Given the description of an element on the screen output the (x, y) to click on. 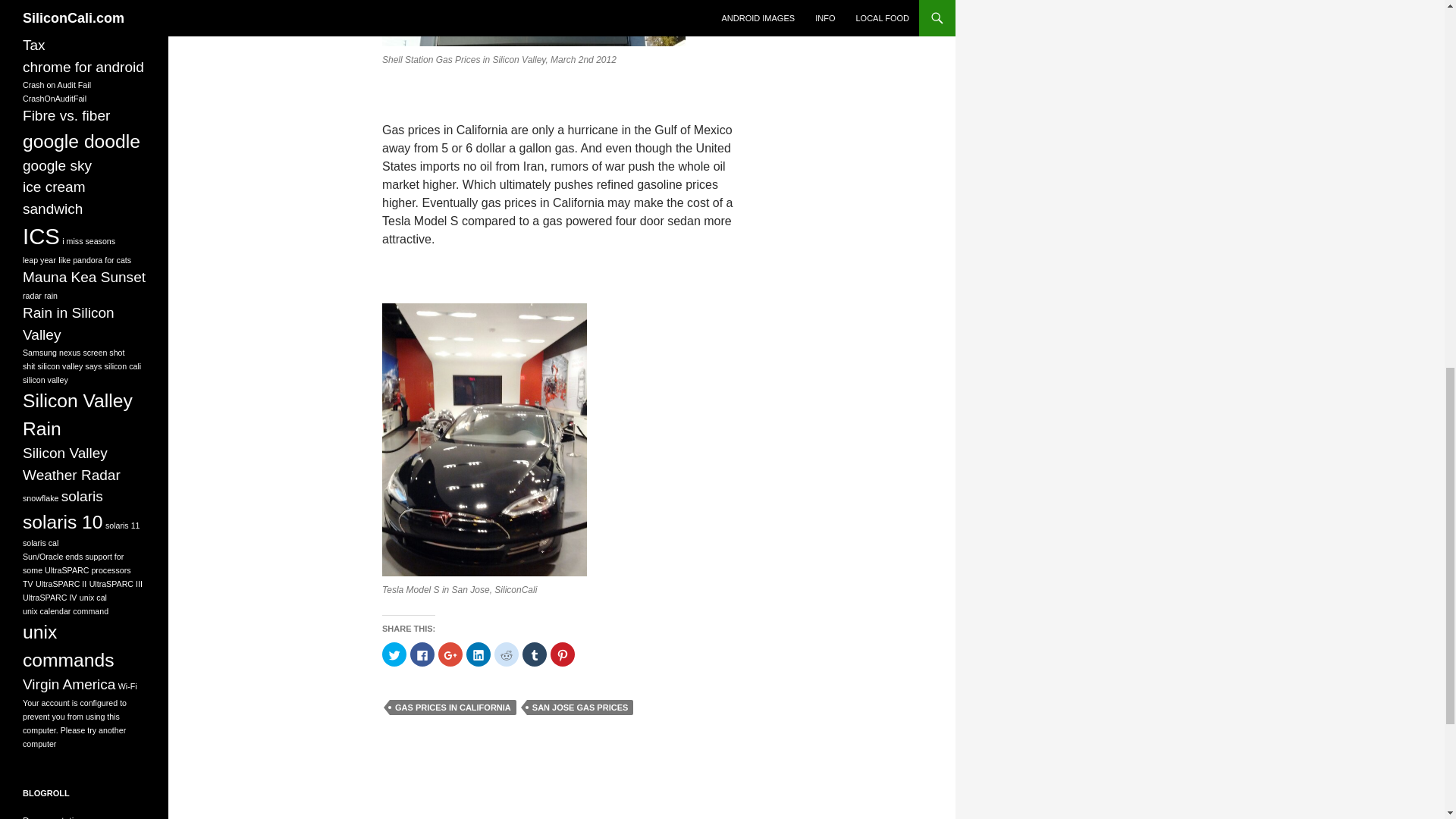
Click to share on Pinterest (562, 654)
Click to share on Facebook (421, 654)
leap year (39, 259)
california gas prices (65, 4)
Click to share on Tumblr (534, 654)
ICS (41, 235)
chrome for android (83, 66)
like pandora for cats (94, 259)
google sky (57, 165)
Click to share on Reddit (506, 654)
California Sales Tax (73, 34)
SAN JOSE GAS PRICES (580, 707)
Click to share on Twitter (393, 654)
Crash on Audit Fail (56, 84)
google doodle (81, 141)
